Given the description of an element on the screen output the (x, y) to click on. 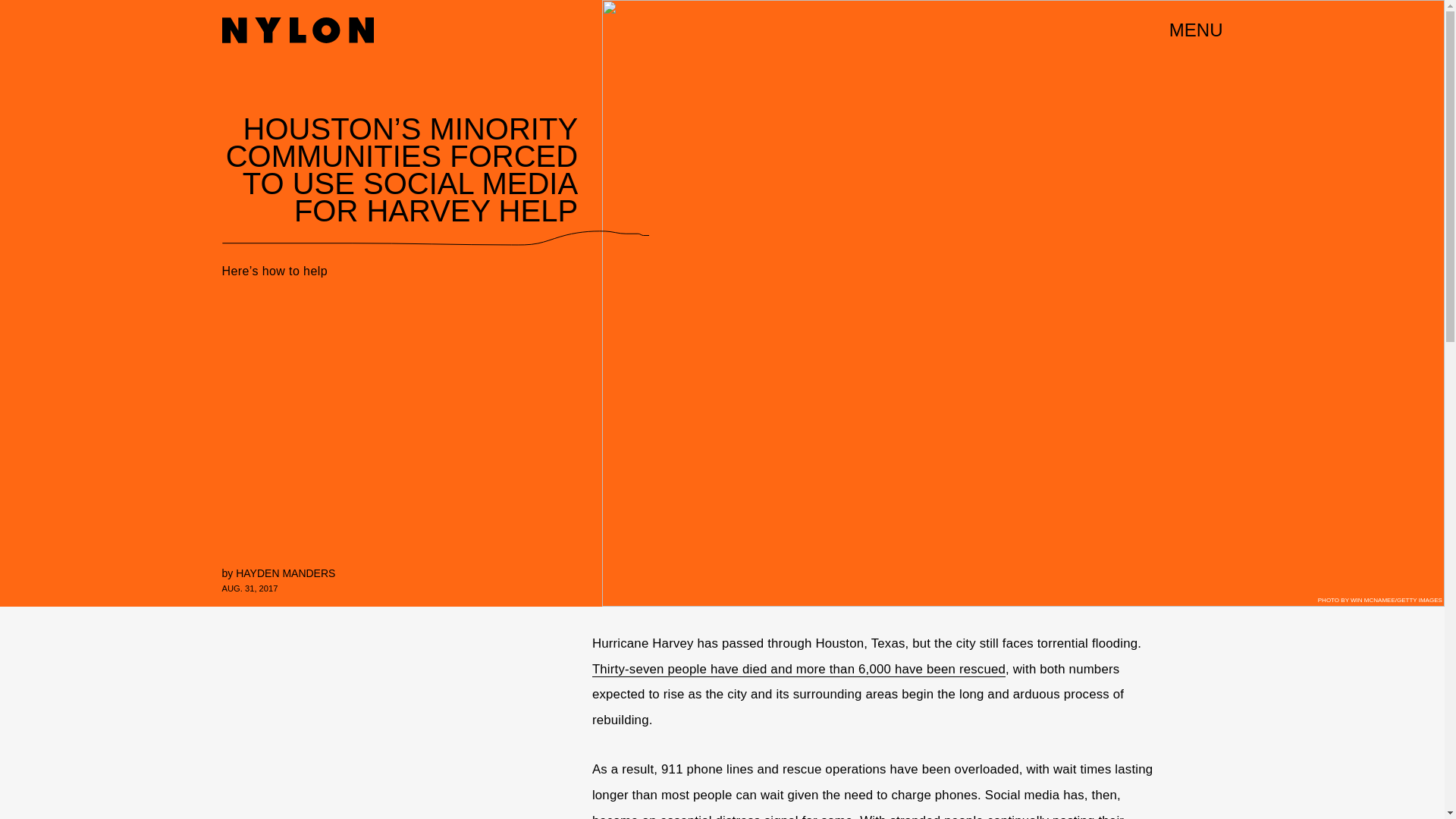
Nylon (296, 30)
HAYDEN MANDERS (284, 573)
